Given the description of an element on the screen output the (x, y) to click on. 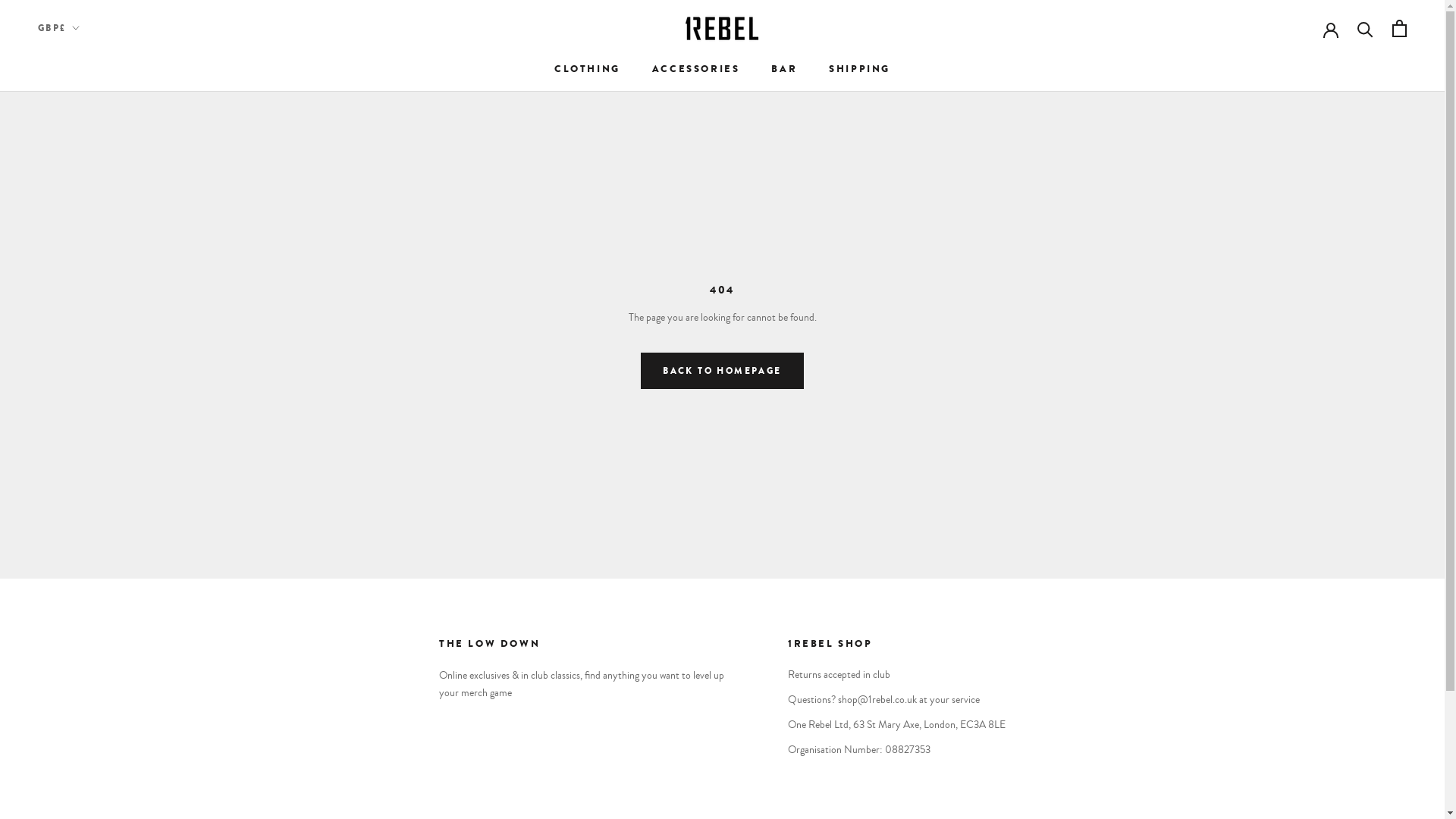
ALL Element type: text (89, 107)
FJD Element type: text (89, 785)
CAD Element type: text (89, 469)
DZD Element type: text (89, 695)
SHIPPING
SHIPPING Element type: text (859, 68)
ETB Element type: text (89, 739)
BACK TO HOMEPAGE Element type: text (721, 370)
Organisation Number: 08827353 Element type: text (896, 750)
CHF Element type: text (89, 513)
Returns accepted in club Element type: text (896, 675)
ACCESSORIES Element type: text (696, 68)
AUD Element type: text (89, 174)
One Rebel Ltd, 63 St Mary Axe, London, EC3A 8LE Element type: text (896, 725)
BSD Element type: text (89, 400)
AZN Element type: text (89, 220)
AED Element type: text (89, 61)
BZD Element type: text (89, 446)
DOP Element type: text (89, 672)
AFN Element type: text (89, 84)
CZK Element type: text (89, 604)
BOB Element type: text (89, 378)
AWG Element type: text (89, 197)
CRC Element type: text (89, 559)
DKK Element type: text (89, 649)
BAM Element type: text (89, 243)
BGN Element type: text (89, 310)
BDT Element type: text (89, 287)
BAR Element type: text (784, 68)
CNY Element type: text (89, 536)
CDF Element type: text (89, 491)
BND Element type: text (89, 356)
CVE Element type: text (89, 582)
Questions? shop@1rebel.co.uk at your service Element type: text (896, 700)
EUR Element type: text (89, 762)
BIF Element type: text (89, 333)
BBD Element type: text (89, 265)
EGP Element type: text (89, 717)
AMD Element type: text (89, 130)
DJF Element type: text (89, 626)
BWP Element type: text (89, 423)
CLOTHING Element type: text (587, 68)
ANG Element type: text (89, 152)
